Given the description of an element on the screen output the (x, y) to click on. 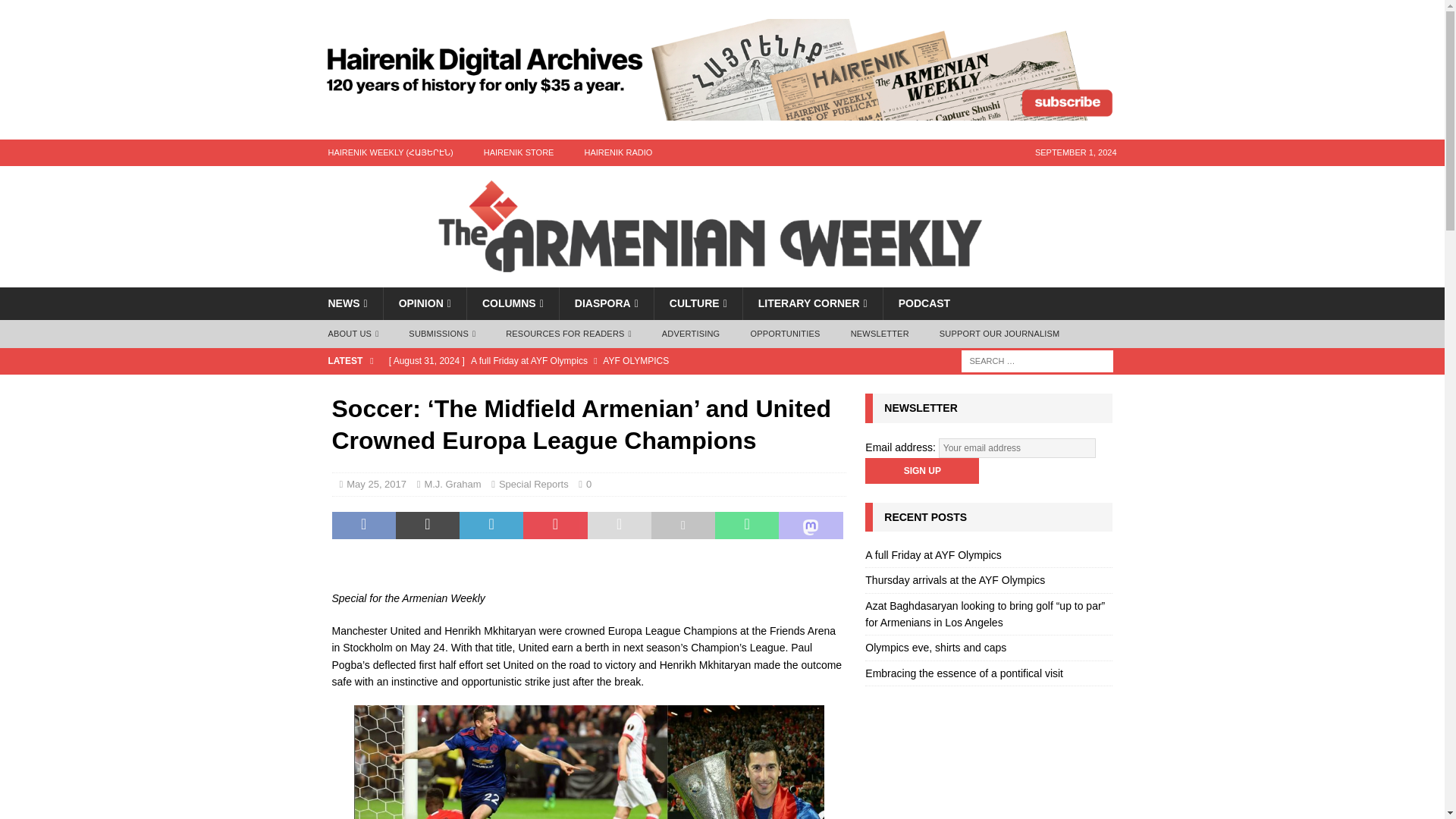
DIASPORA (606, 303)
COLUMNS (512, 303)
Share on Facebook (363, 524)
Tweet This Post (428, 524)
Print this article (682, 524)
Sign up (921, 470)
OPINION (423, 303)
HAIRENIK STORE (518, 152)
The Armenian Weekly (722, 278)
Pin This Post (554, 524)
